Given the description of an element on the screen output the (x, y) to click on. 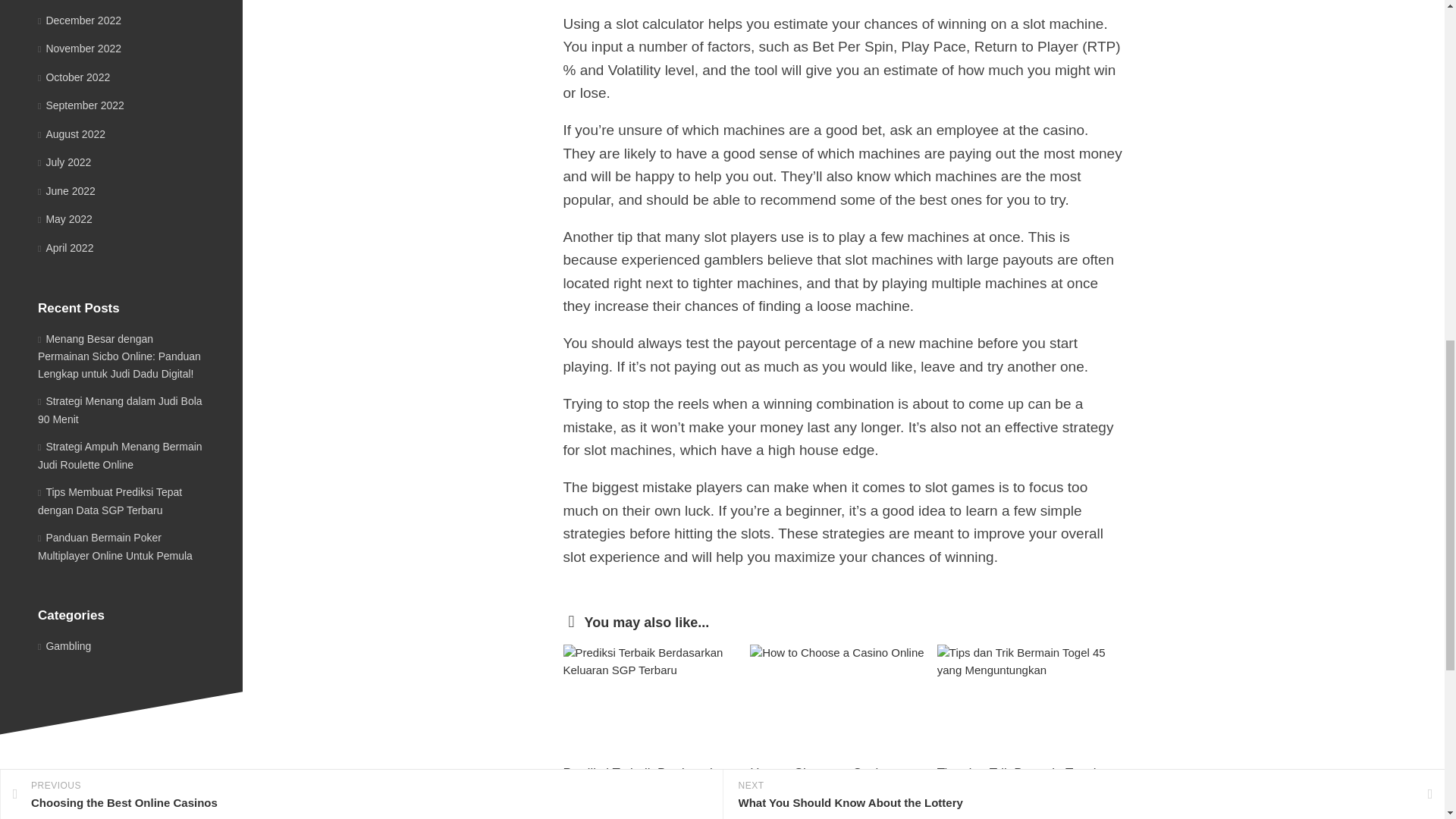
November 2022 (78, 48)
December 2022 (78, 19)
June 2022 (66, 191)
Tips dan Trik Bermain Togel 45 yang Menguntungkan (1016, 781)
Prediksi Terbaik Berdasarkan Keluaran SGP Terbaru (646, 781)
September 2022 (80, 105)
August 2022 (70, 133)
How to Choose a Casino Online (820, 781)
July 2022 (63, 162)
October 2022 (73, 77)
